Given the description of an element on the screen output the (x, y) to click on. 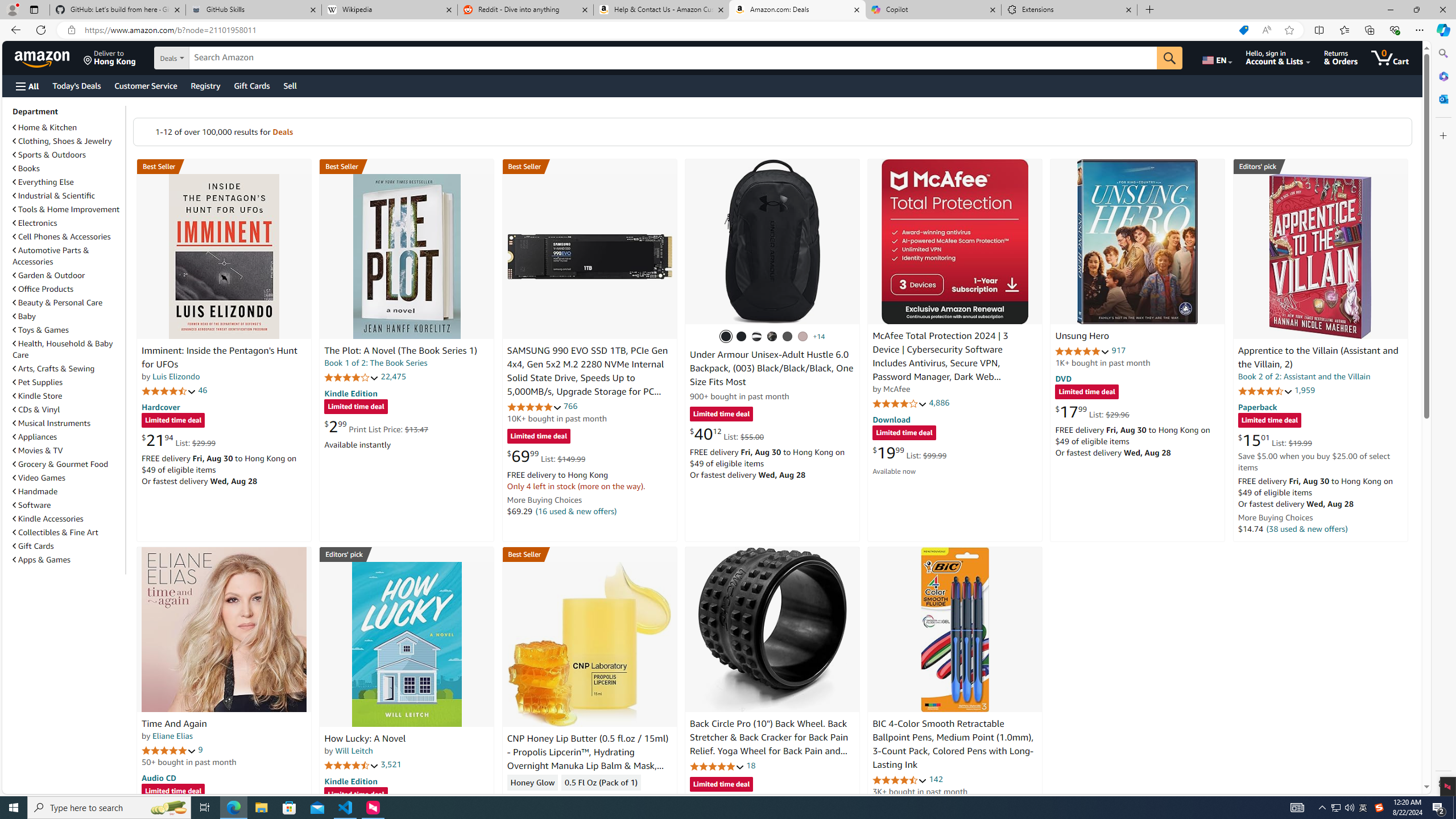
(002) Black / Black / White (756, 336)
4.6 out of 5 stars (899, 779)
$19.99 List: $99.99 (909, 452)
Best Seller in Unexplained Mysteries (223, 165)
Tools & Home Improvement (67, 208)
Automotive Parts & Accessories (67, 255)
Gift Cards (67, 546)
Baby (24, 316)
Editors' pick Best Science Fiction & Fantasy (1320, 165)
Video Games (39, 477)
18 (750, 764)
